Given the description of an element on the screen output the (x, y) to click on. 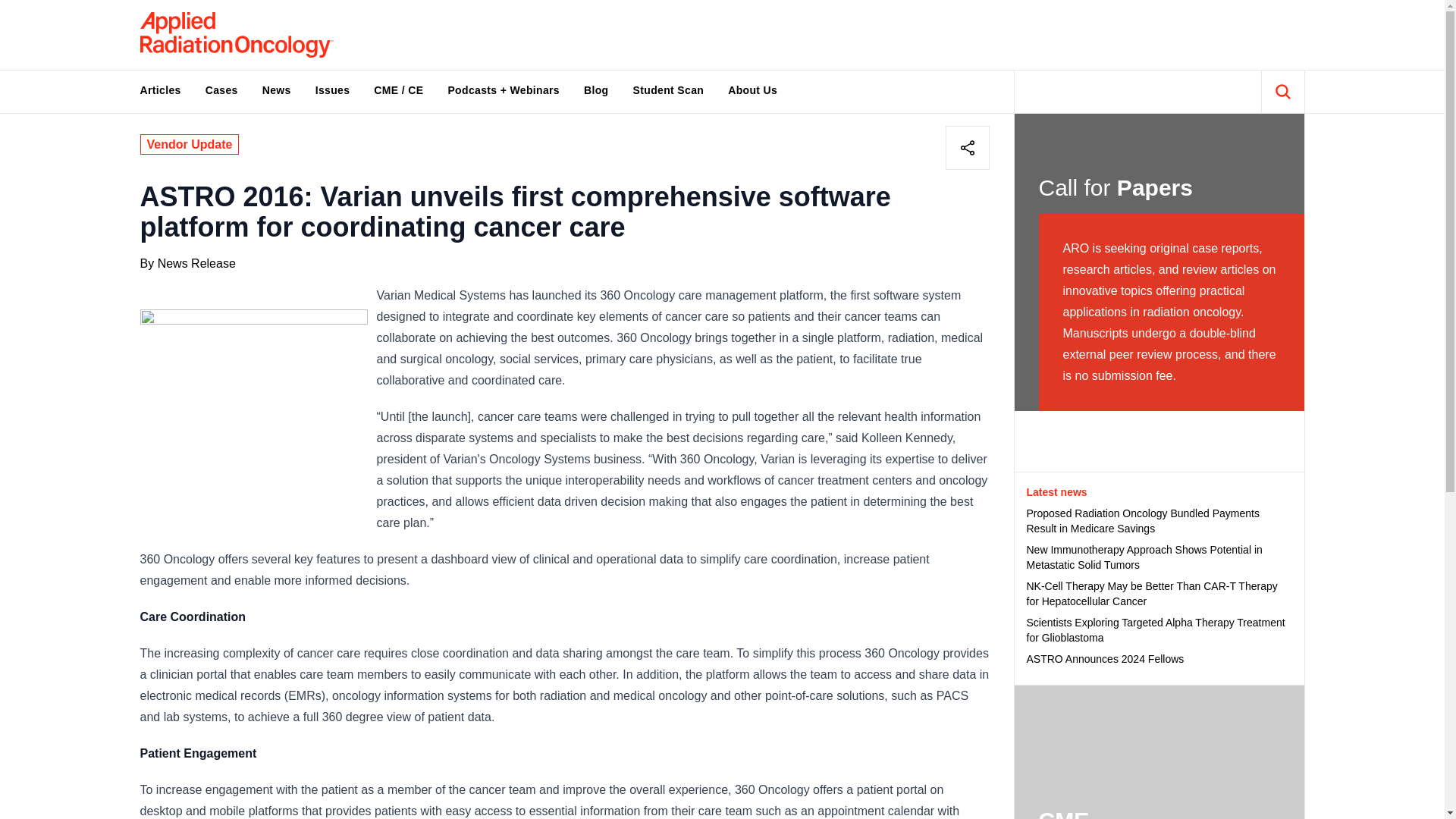
Articles (160, 89)
Cases (221, 89)
Blog (596, 89)
About Us (752, 89)
Issues (332, 89)
ASTRO Announces 2024 Fellows (1159, 658)
Articles (160, 89)
Cases (221, 89)
Student Scan (668, 89)
News (276, 89)
About Us (752, 89)
Blog (596, 89)
News (276, 89)
